Given the description of an element on the screen output the (x, y) to click on. 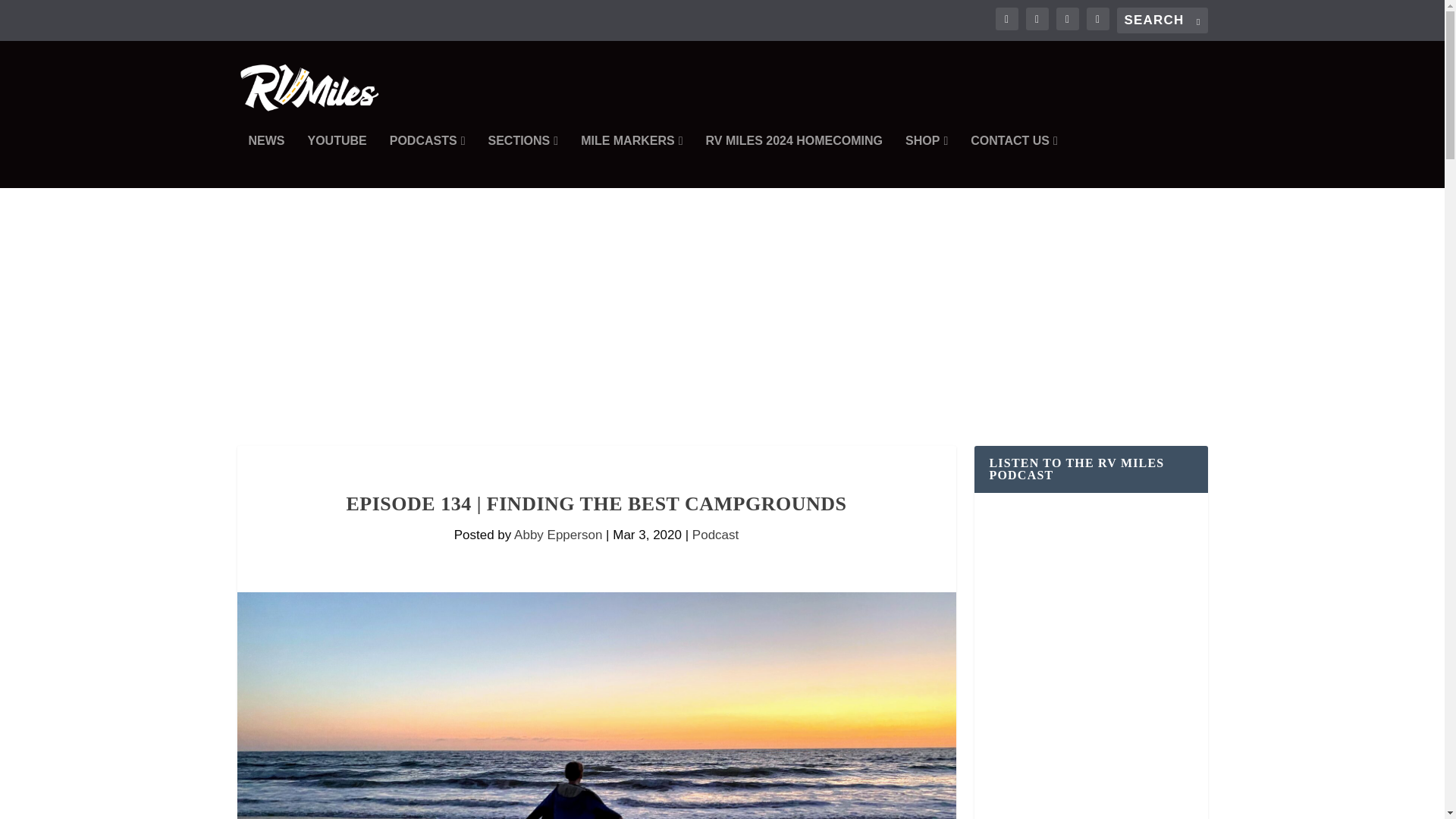
MILE MARKERS (631, 161)
YOUTUBE (336, 161)
SECTIONS (522, 161)
CONTACT US (1014, 161)
RV MILES 2024 HOMECOMING (794, 161)
Search for: (1161, 20)
Posts by Abby Epperson (557, 534)
PODCASTS (427, 161)
